Given the description of an element on the screen output the (x, y) to click on. 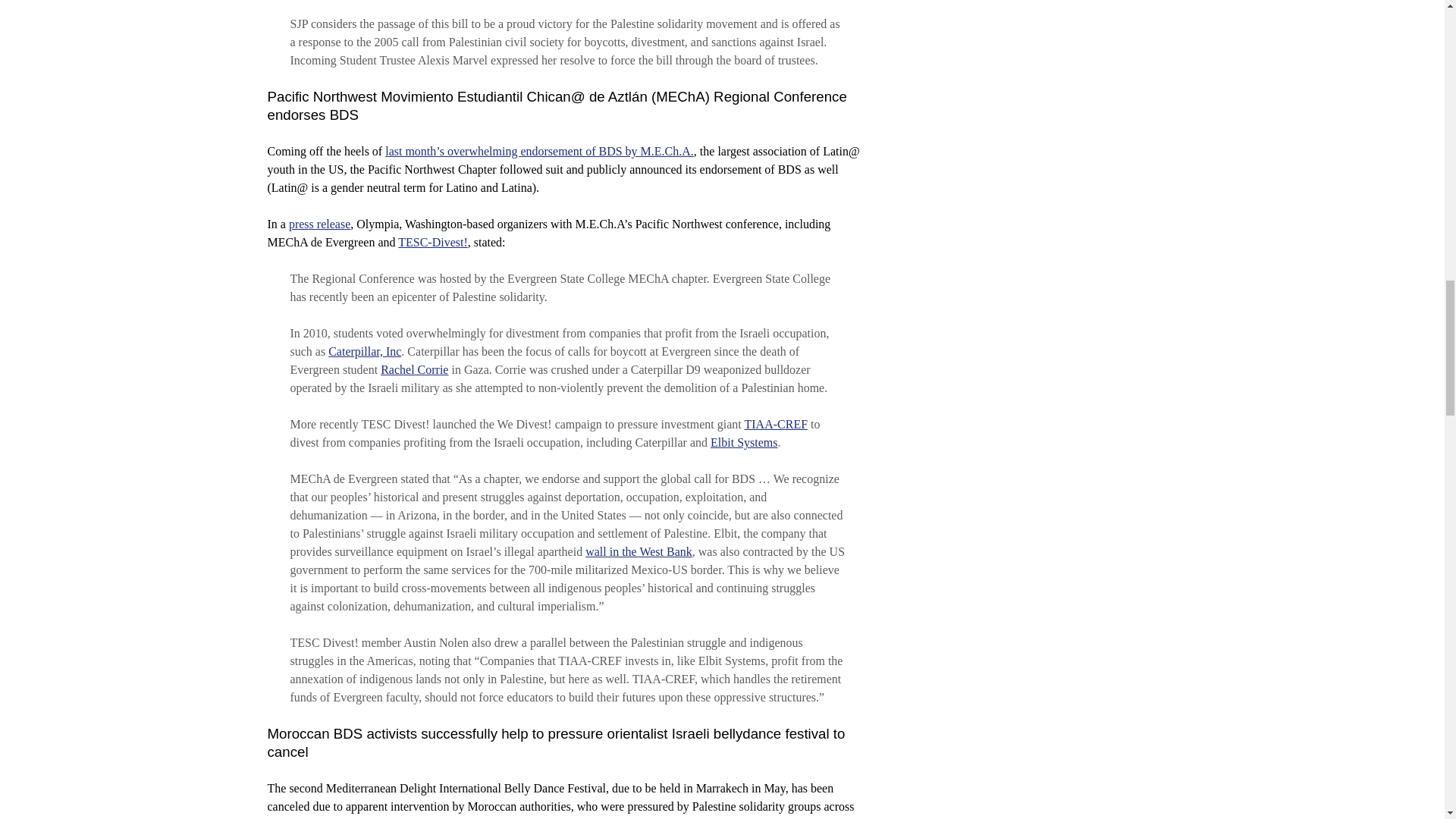
Morocco (288, 818)
Elbit Systems (743, 441)
TESC-Divest! (432, 241)
Rachel Corrie (414, 369)
press release (319, 223)
TIAA-CREF (776, 423)
wall in the West Bank (639, 551)
Caterpillar, Inc (365, 350)
